Given the description of an element on the screen output the (x, y) to click on. 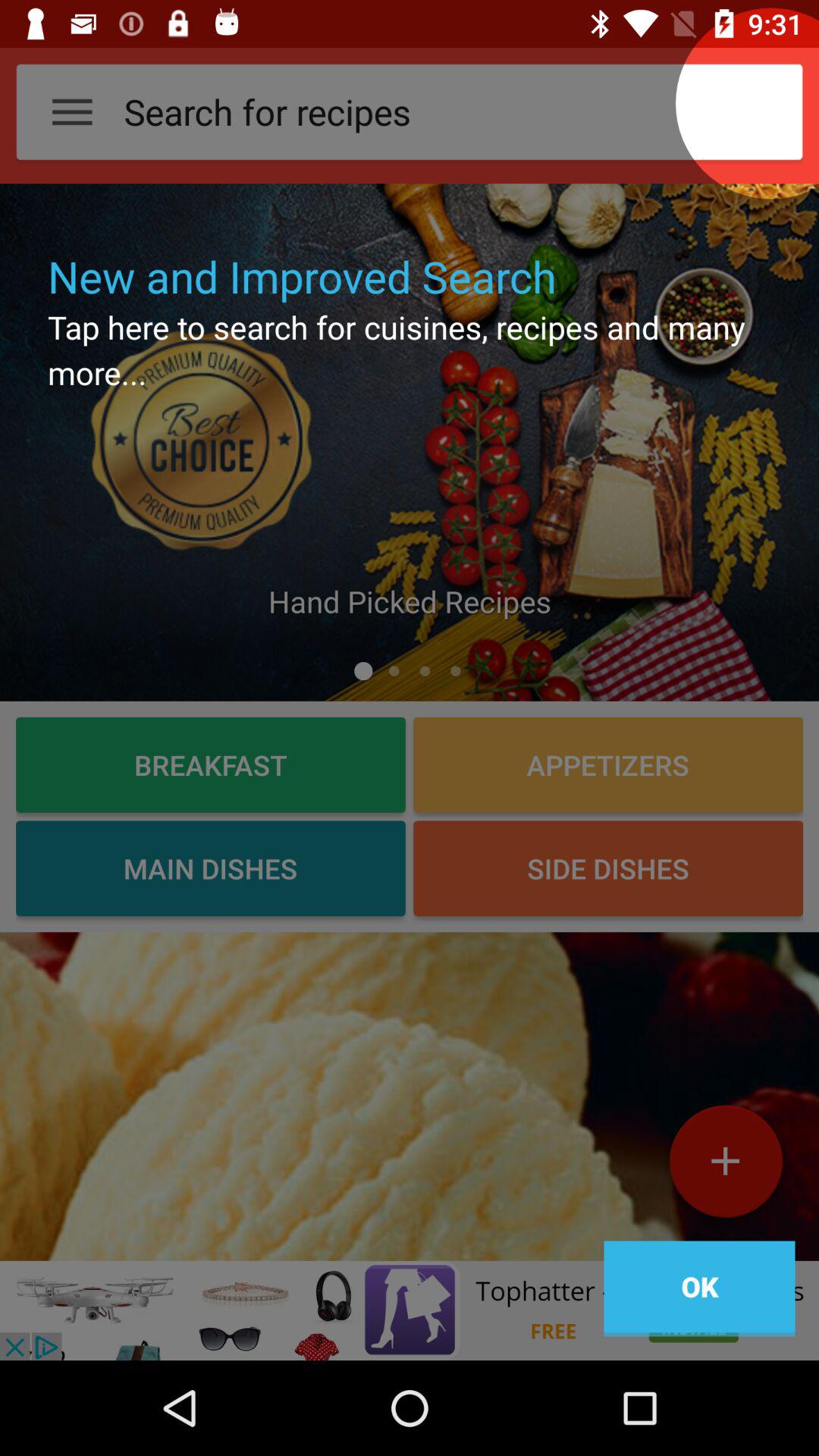
select the symbol (725, 1167)
